Given the description of an element on the screen output the (x, y) to click on. 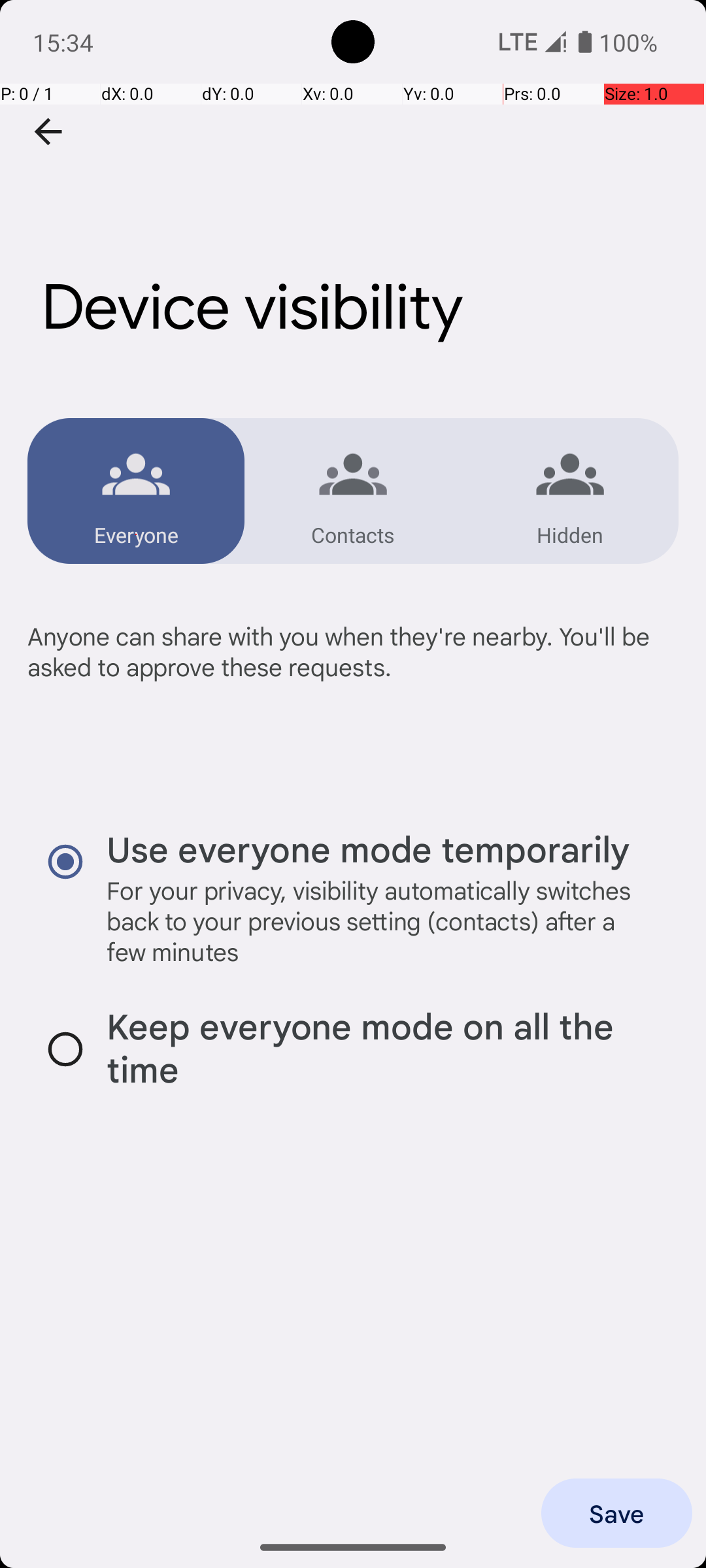
Device visibility Element type: android.widget.FrameLayout (353, 195)
Everyone Element type: android.widget.TextView (135, 534)
Hidden Element type: android.widget.TextView (569, 534)
Anyone can share with you when they're nearby. You'll be asked to approve these requests.

 Element type: android.widget.TextView (353, 681)
Use everyone mode temporarily Element type: android.widget.TextView (367, 847)
For your privacy, visibility automatically switches back to your previous setting (contacts) after a few minutes Element type: android.widget.TextView (380, 920)
Keep everyone mode on all the time Element type: android.widget.TextView (380, 1049)
